Given the description of an element on the screen output the (x, y) to click on. 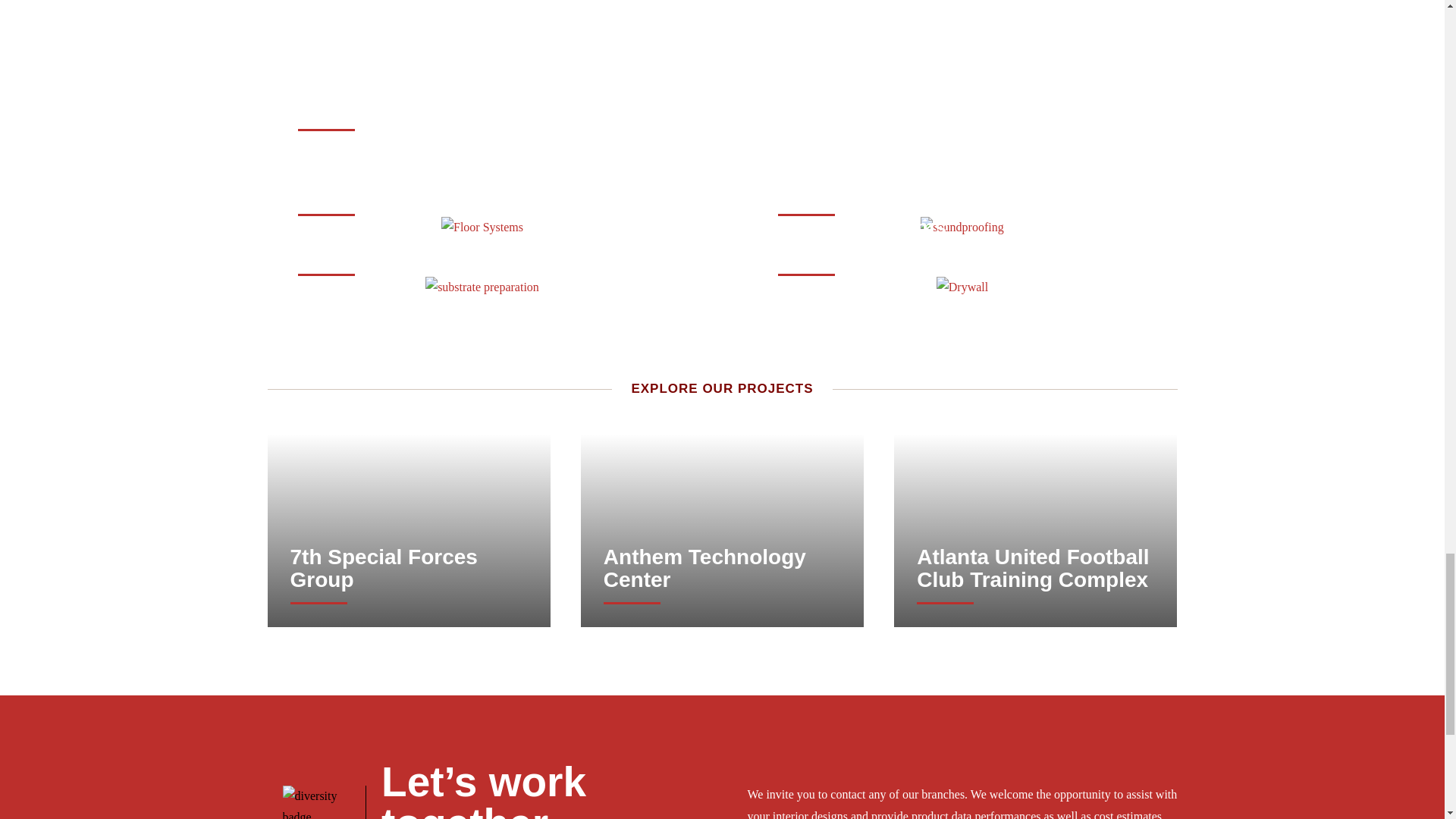
7th Special Forces Group (409, 178)
Anthem Technology Center (862, 238)
Substrate Preparation (408, 569)
Atlanta United Football Club Training Complex (722, 569)
Flooring (408, 250)
